Given the description of an element on the screen output the (x, y) to click on. 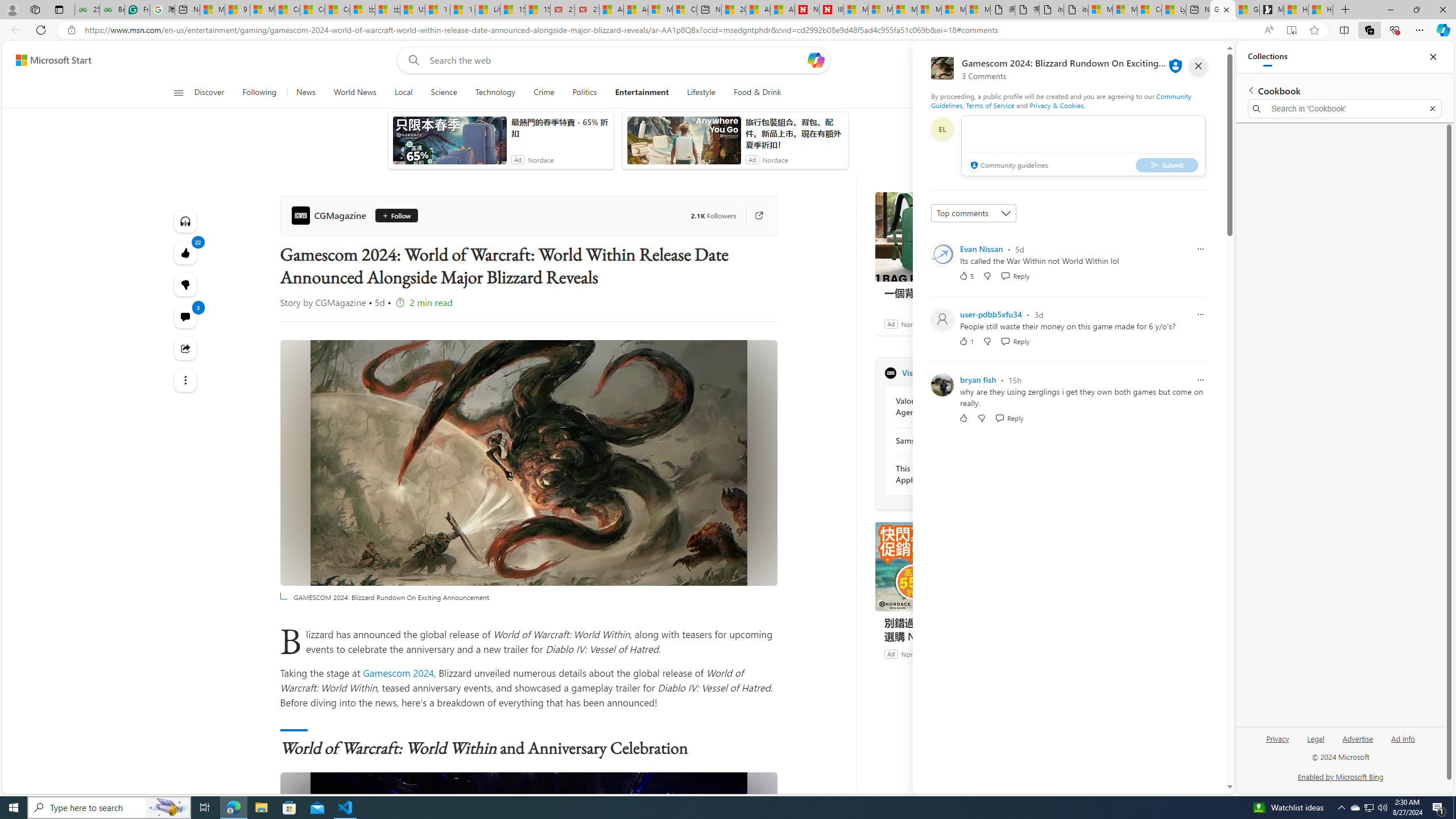
comment-box (1082, 145)
bryan fish (977, 379)
25 Basic Linux Commands For Beginners - GeeksforGeeks (86, 9)
Profile Picture (941, 384)
5 Like (965, 275)
Lifestyle (701, 92)
Like (962, 418)
Open settings (1199, 60)
Food & Drink (752, 92)
